Given the description of an element on the screen output the (x, y) to click on. 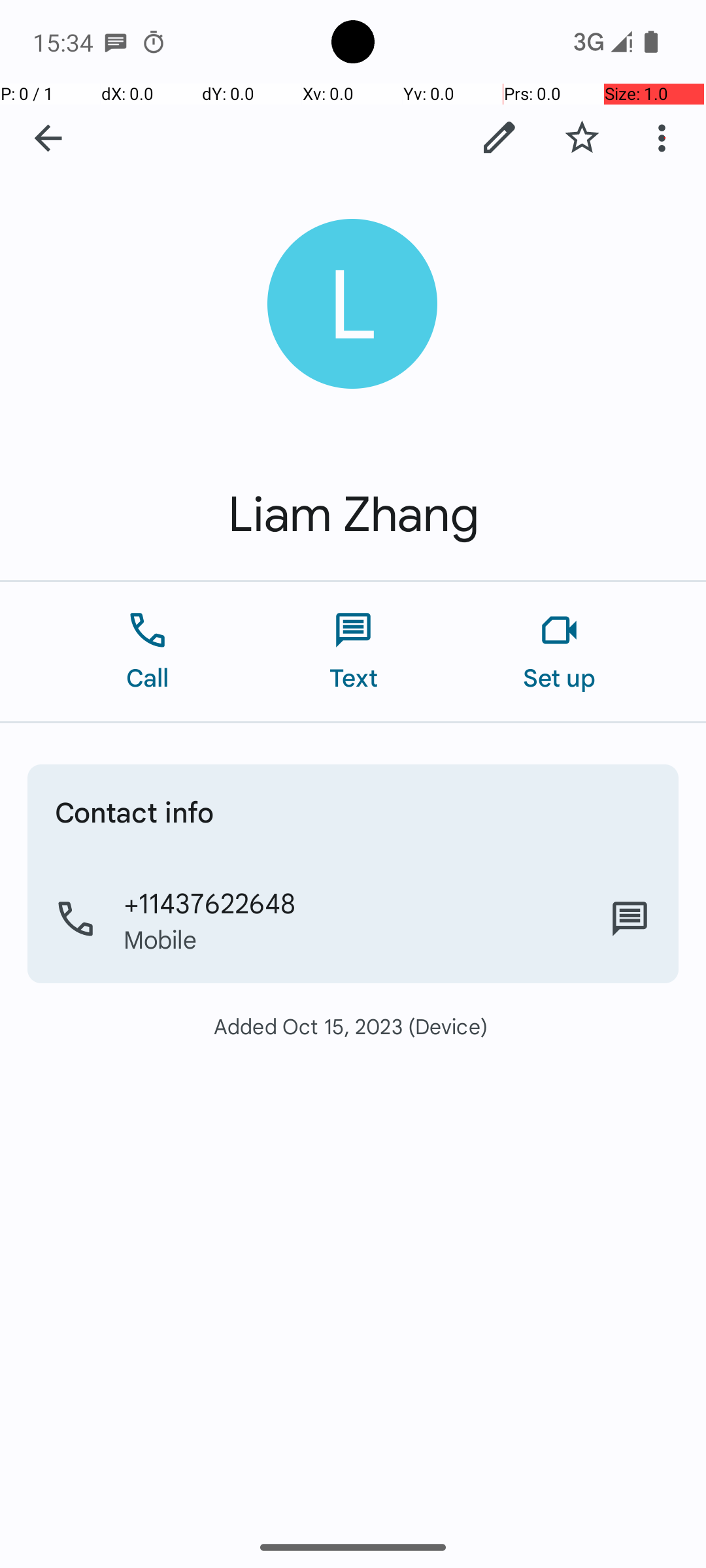
Liam Zhang Element type: android.widget.TextView (352, 514)
Call Mobile +11437622648 Element type: android.widget.RelativeLayout (352, 919)
Added Oct 15, 2023 (Device)  Element type: android.widget.TextView (352, 1025)
+11437622648 Element type: android.widget.TextView (209, 901)
Text Mobile +11437622648 Element type: android.widget.Button (629, 919)
